Given the description of an element on the screen output the (x, y) to click on. 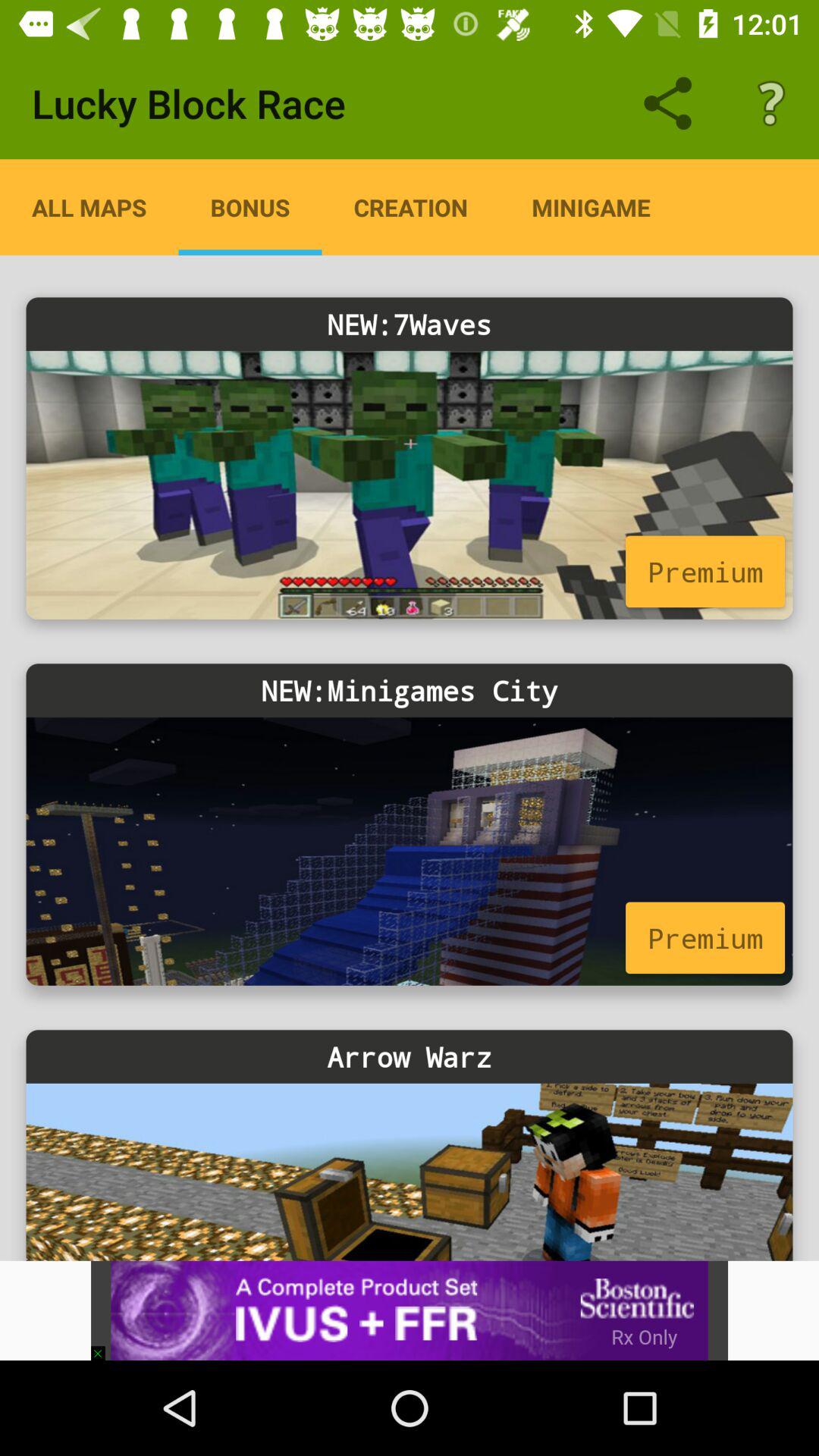
click the item next to the bonus app (89, 207)
